Given the description of an element on the screen output the (x, y) to click on. 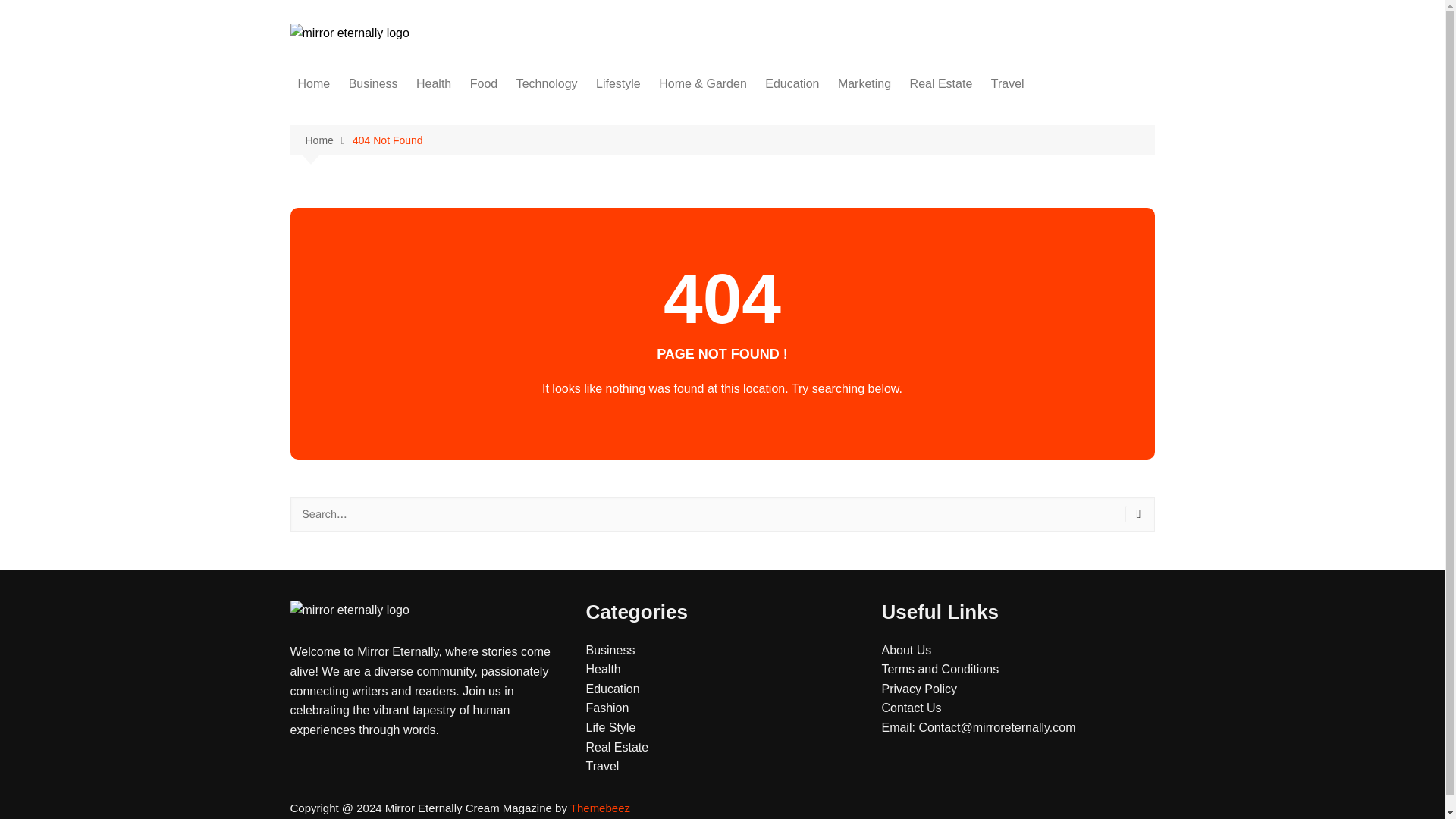
Education (792, 84)
Technology (546, 84)
Terms and Conditions (939, 668)
Privacy Policy (918, 688)
Business (609, 649)
Home (328, 140)
Real Estate (940, 84)
Contact Us (910, 707)
Lifestyle (617, 84)
Education (612, 688)
